Given the description of an element on the screen output the (x, y) to click on. 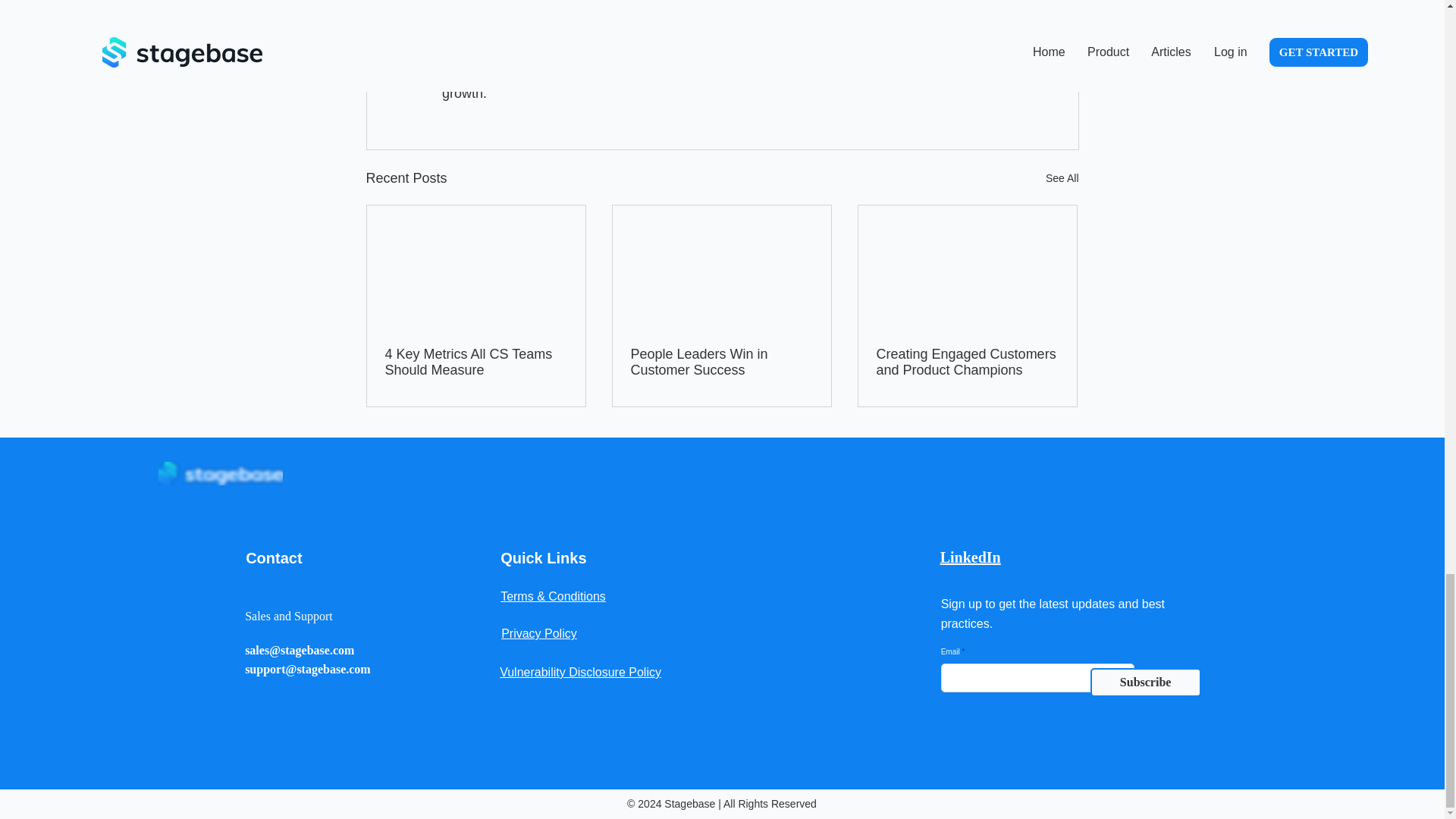
People Leaders Win in Customer Success (721, 362)
Privacy Policy (538, 633)
Vulnerability Disclosure Policy (580, 671)
Creating Engaged Customers and Product Champions (967, 362)
Subscribe (1145, 682)
See All (1061, 178)
4 Key Metrics All CS Teams Should Measure (476, 362)
LinkedIn (970, 556)
